Given the description of an element on the screen output the (x, y) to click on. 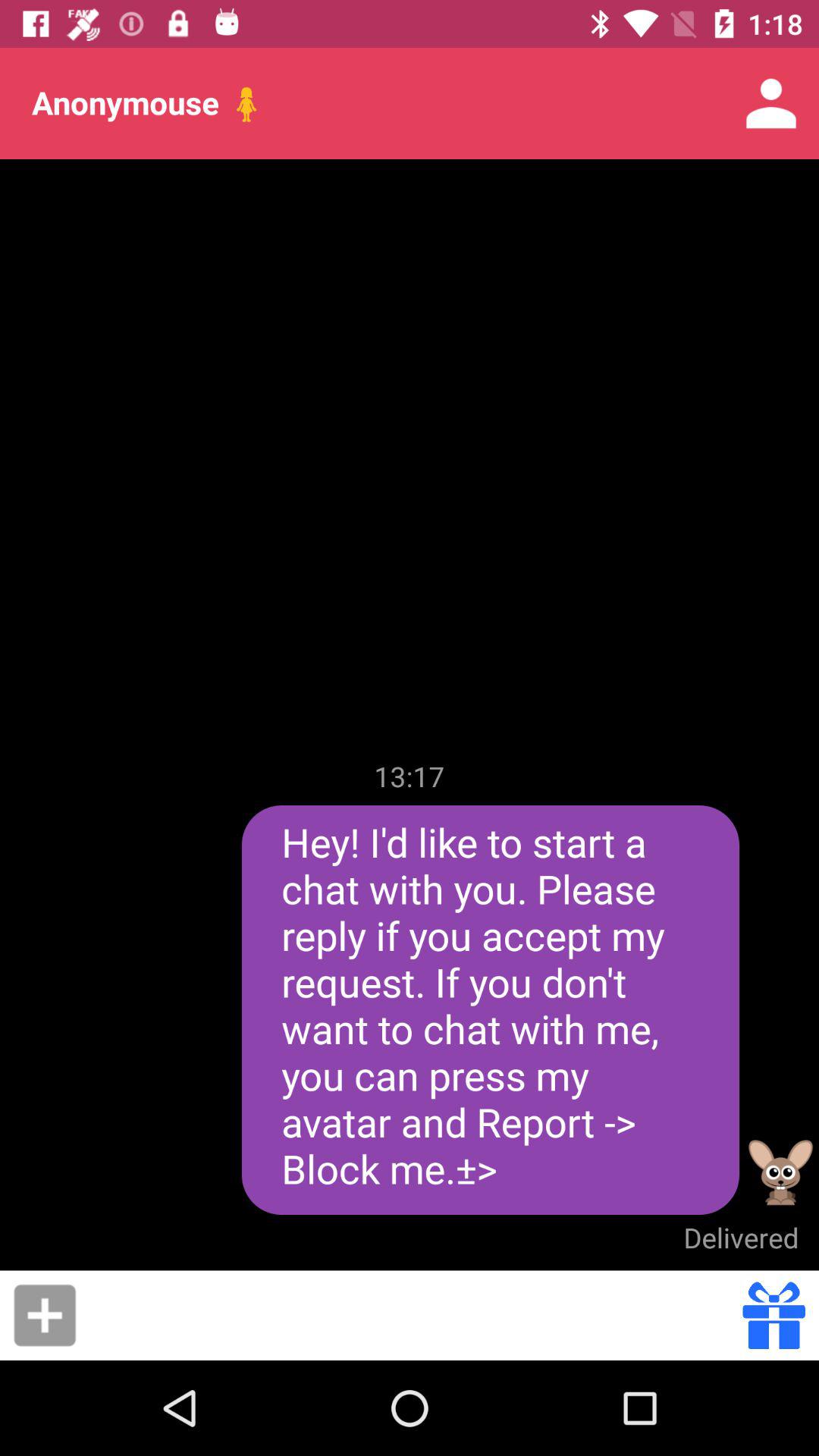
choose the icon to the right of the hey i d (780, 1172)
